Given the description of an element on the screen output the (x, y) to click on. 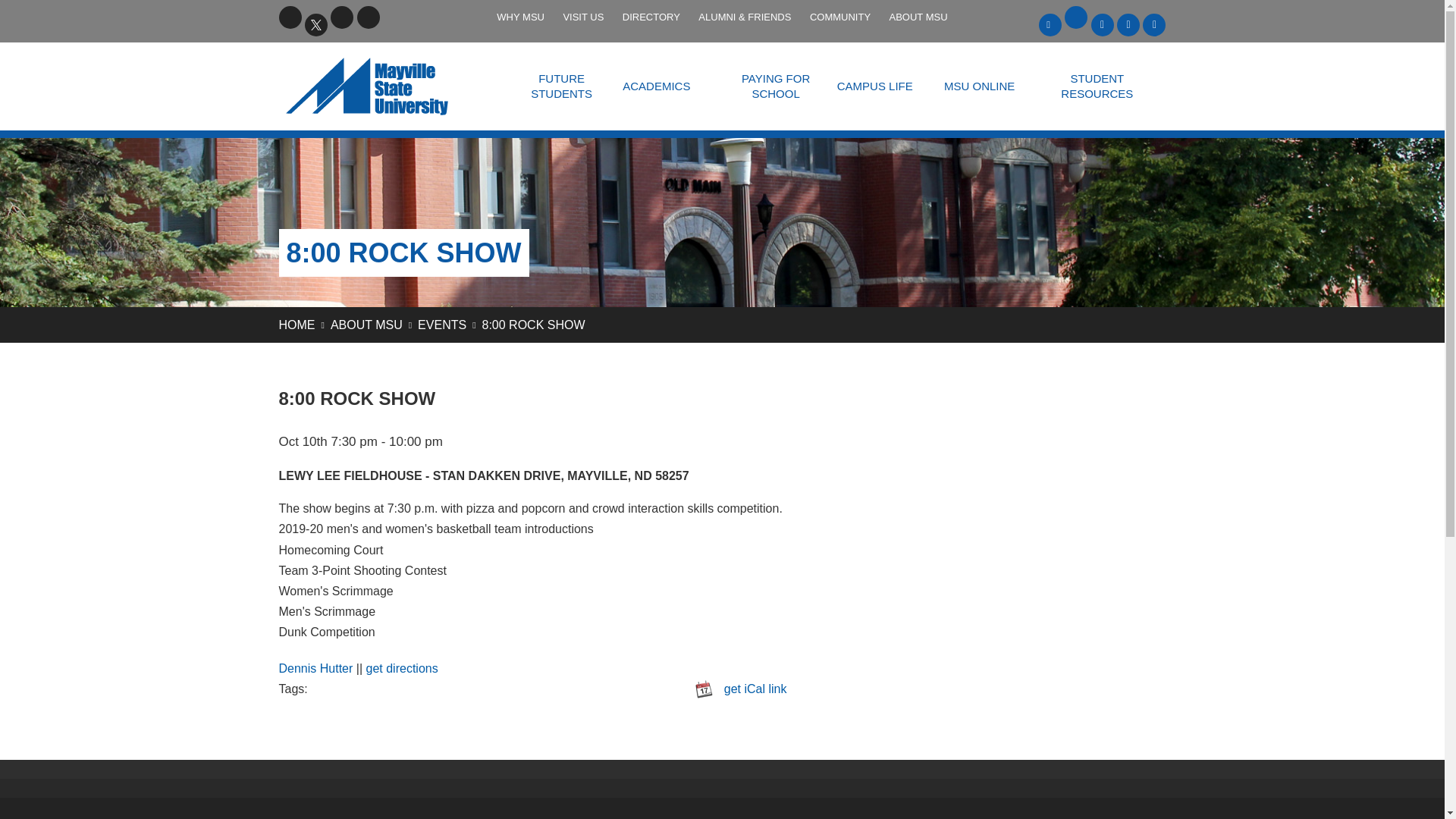
ACADEMICS (655, 86)
DIRECTORY (650, 16)
FUTURE STUDENTS (561, 85)
WHY MSU (520, 16)
Events (441, 324)
YouTube (341, 16)
VISIT US (582, 16)
Instagram (368, 16)
COMMUNITY (839, 16)
ABOUT MSU (918, 16)
Home (297, 324)
8:00 Rock Show (533, 324)
Facebook (290, 16)
Mayville State University :: Mayville, ND (386, 86)
About MSU (366, 324)
